Given the description of an element on the screen output the (x, y) to click on. 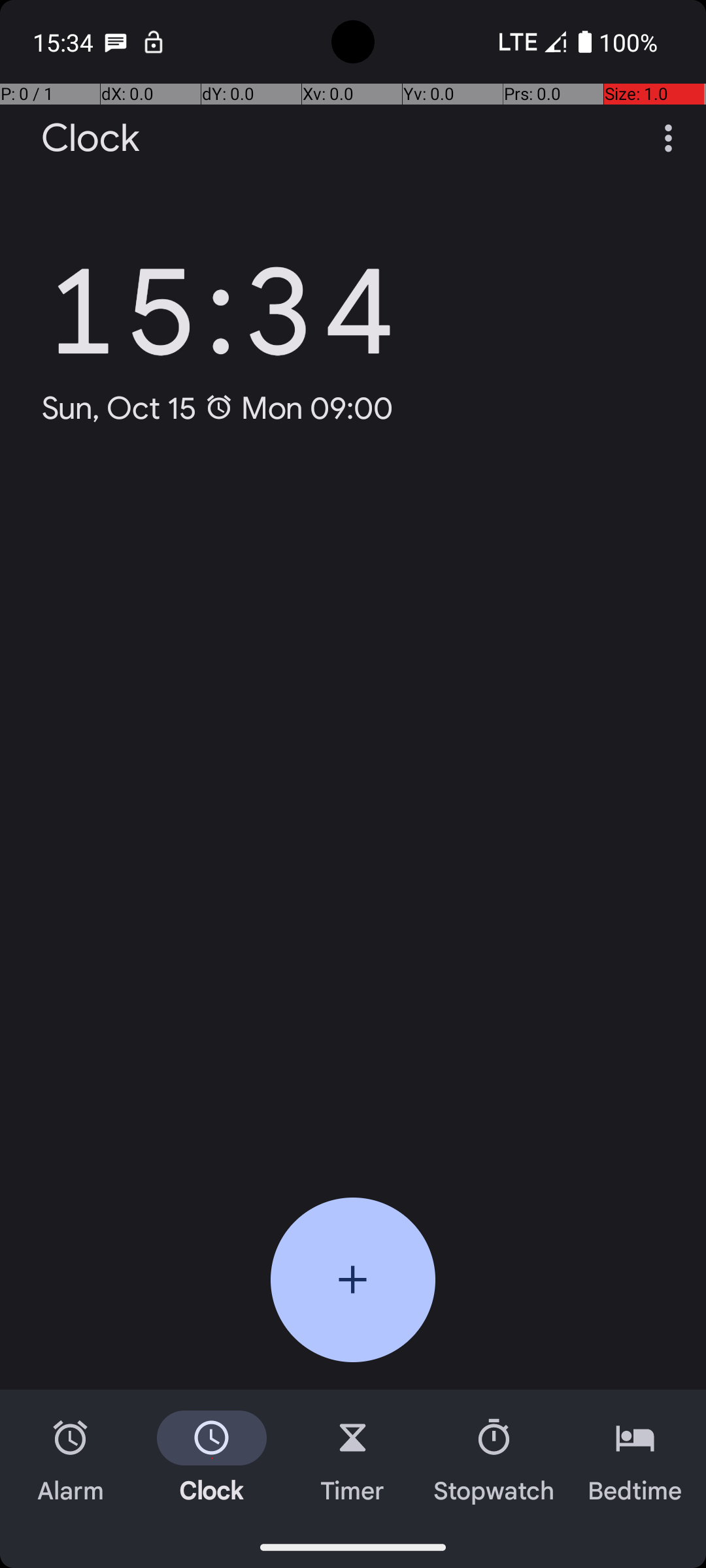
Sun, Oct 15 A Mon 09:00 Element type: android.widget.TextView (216, 407)
Tasks notification: Connection security Element type: android.widget.ImageView (153, 41)
